Given the description of an element on the screen output the (x, y) to click on. 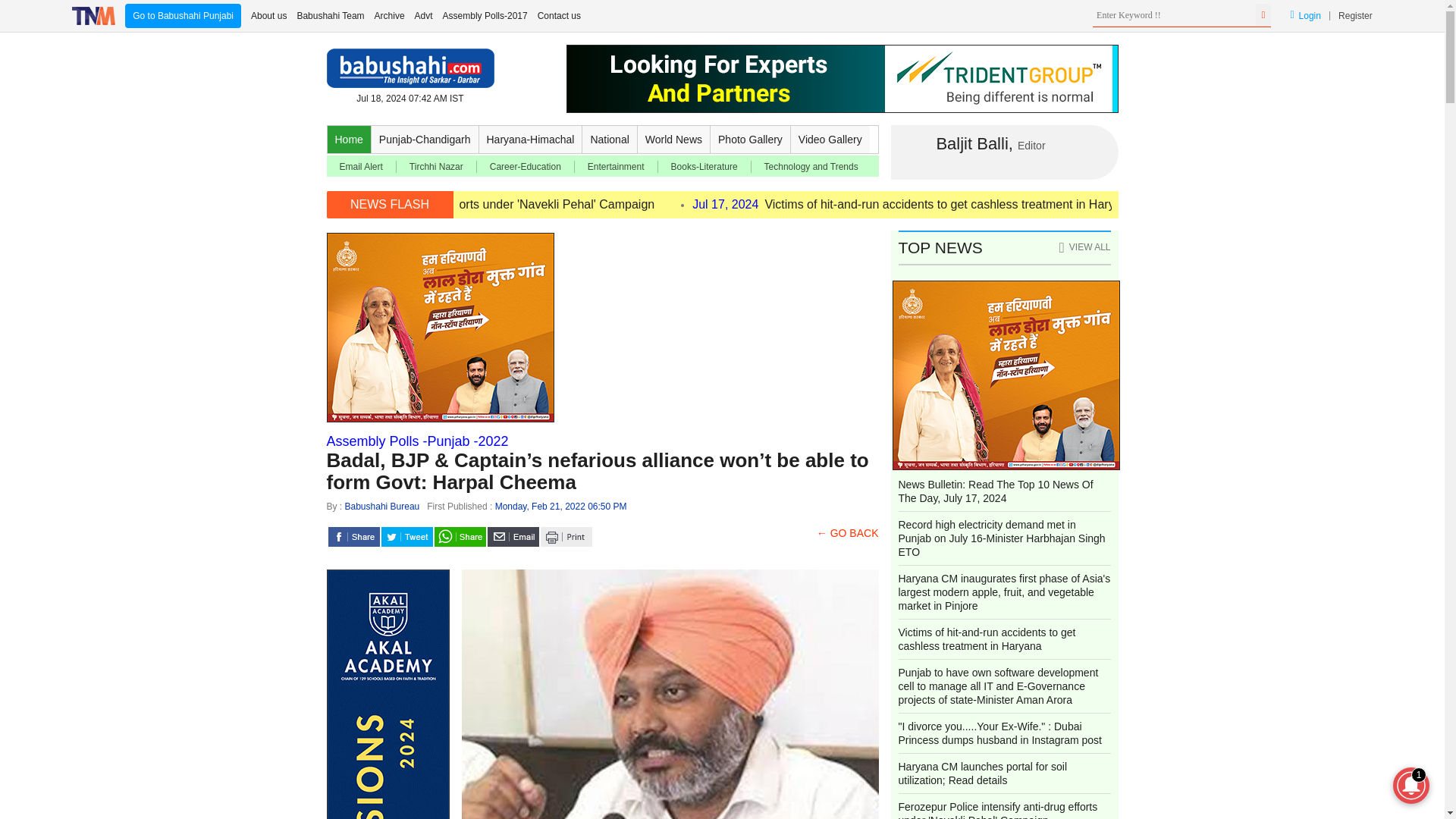
About us (268, 15)
World News (673, 139)
Register (1355, 15)
National (609, 139)
Go to Babushahi Punjabi (183, 15)
Advt (423, 15)
Email Alert (361, 166)
Home (349, 139)
Tirchhi Nazar (436, 166)
Contact us (558, 15)
Register (1355, 15)
Photo Gallery (750, 139)
Login (1305, 15)
